Given the description of an element on the screen output the (x, y) to click on. 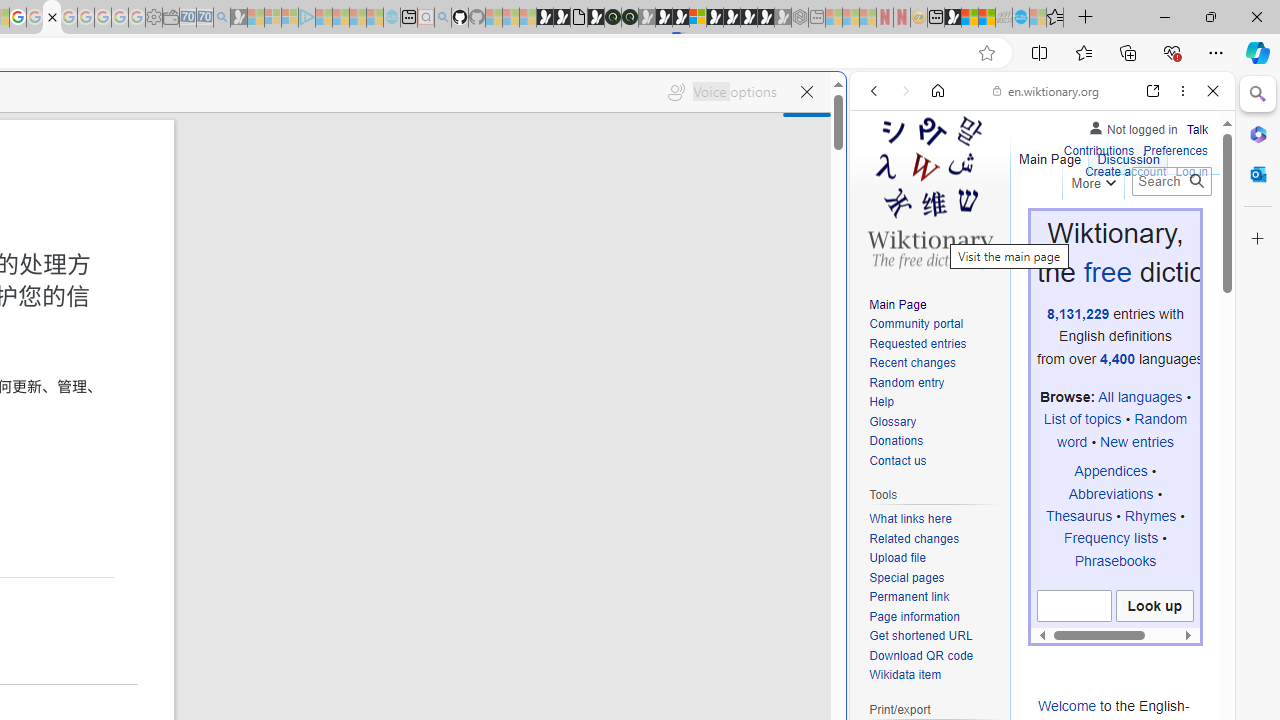
free (1106, 272)
Talk (1197, 129)
